Given the description of an element on the screen output the (x, y) to click on. 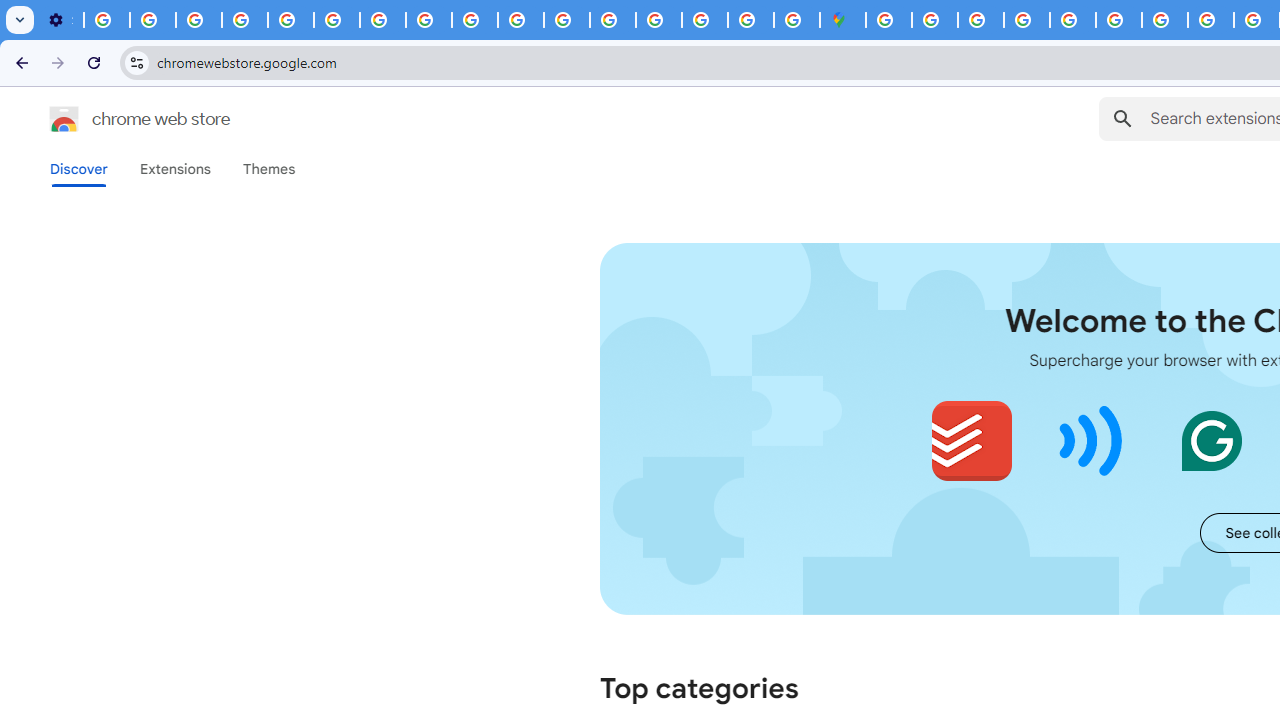
YouTube (336, 20)
Terms and Conditions (1072, 20)
Sign in - Google Accounts (659, 20)
Extensions (174, 169)
Settings - Customize profile (60, 20)
Themes (269, 169)
Google Maps (843, 20)
Learn how to find your photos - Google Photos Help (153, 20)
Delete photos & videos - Computer - Google Photos Help (107, 20)
